Given the description of an element on the screen output the (x, y) to click on. 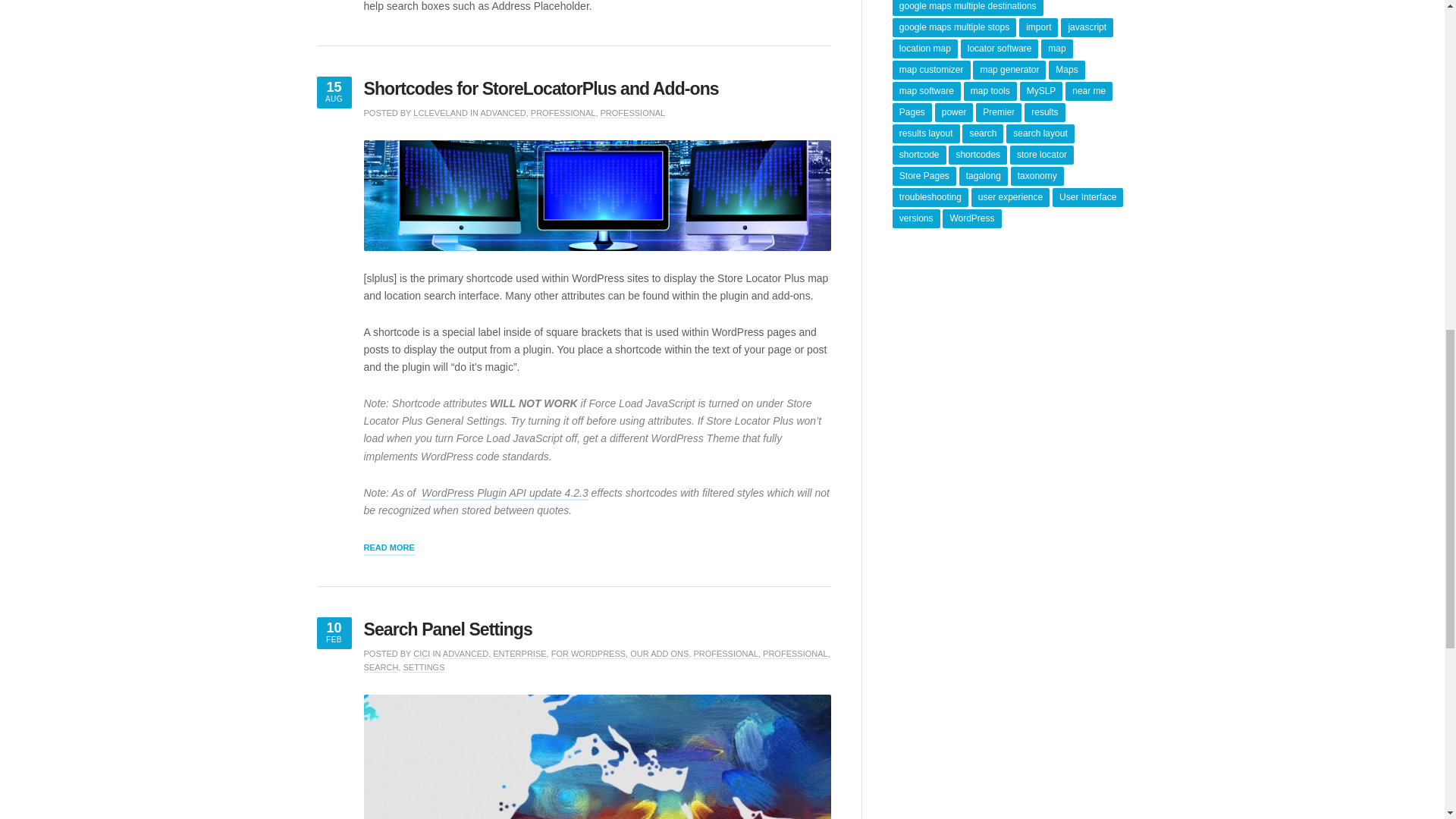
LCLEVELAND (440, 112)
PROFESSIONAL (563, 112)
ADVANCED (502, 112)
Shortcodes for StoreLocatorPlus and Add-ons (541, 88)
PROFESSIONAL (632, 112)
